Given the description of an element on the screen output the (x, y) to click on. 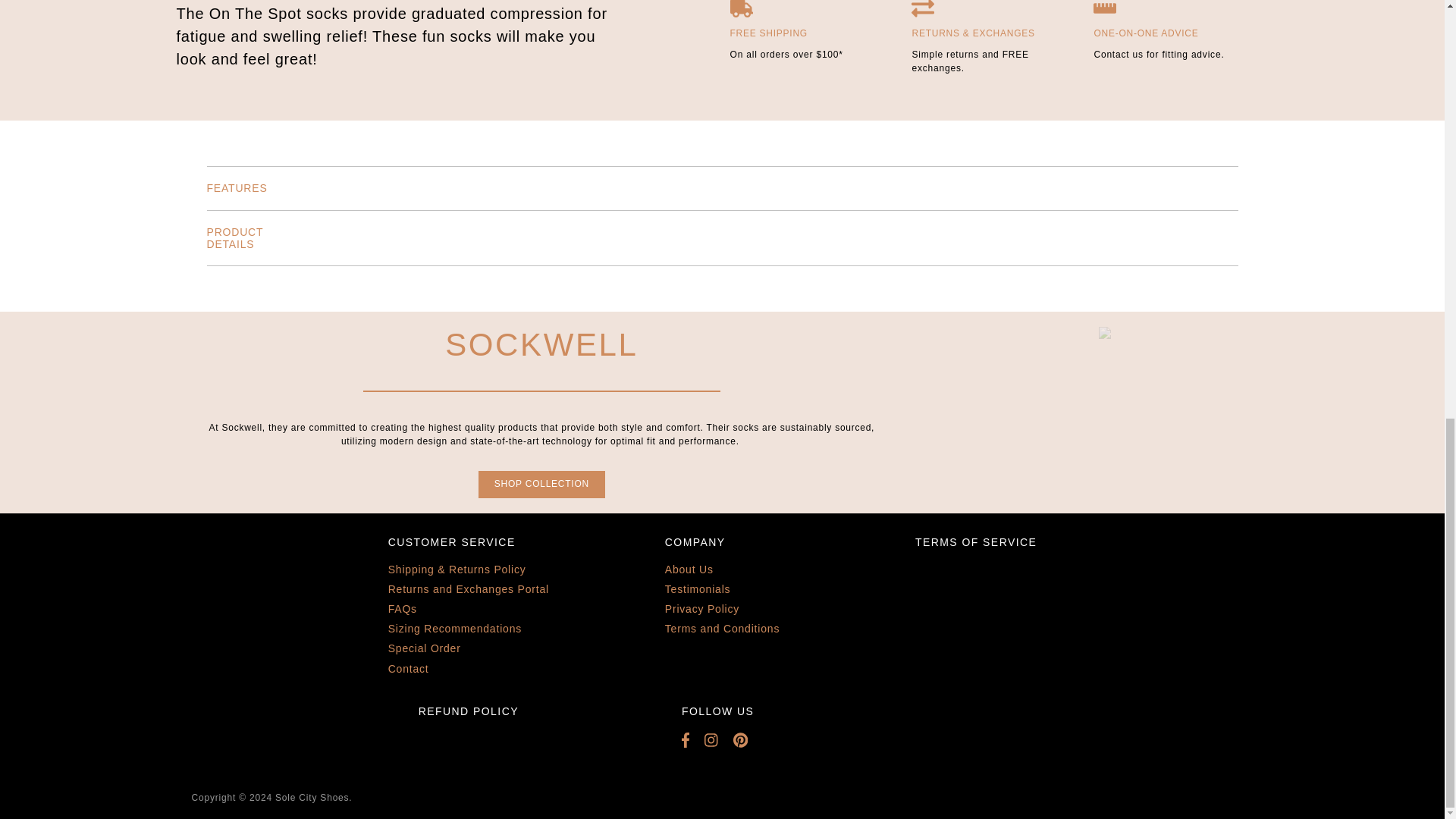
Sole City Shoes on Instagram (718, 739)
Sole City Shoes on Pinterest (747, 739)
Sole City Shoes on Facebook (692, 739)
